Given the description of an element on the screen output the (x, y) to click on. 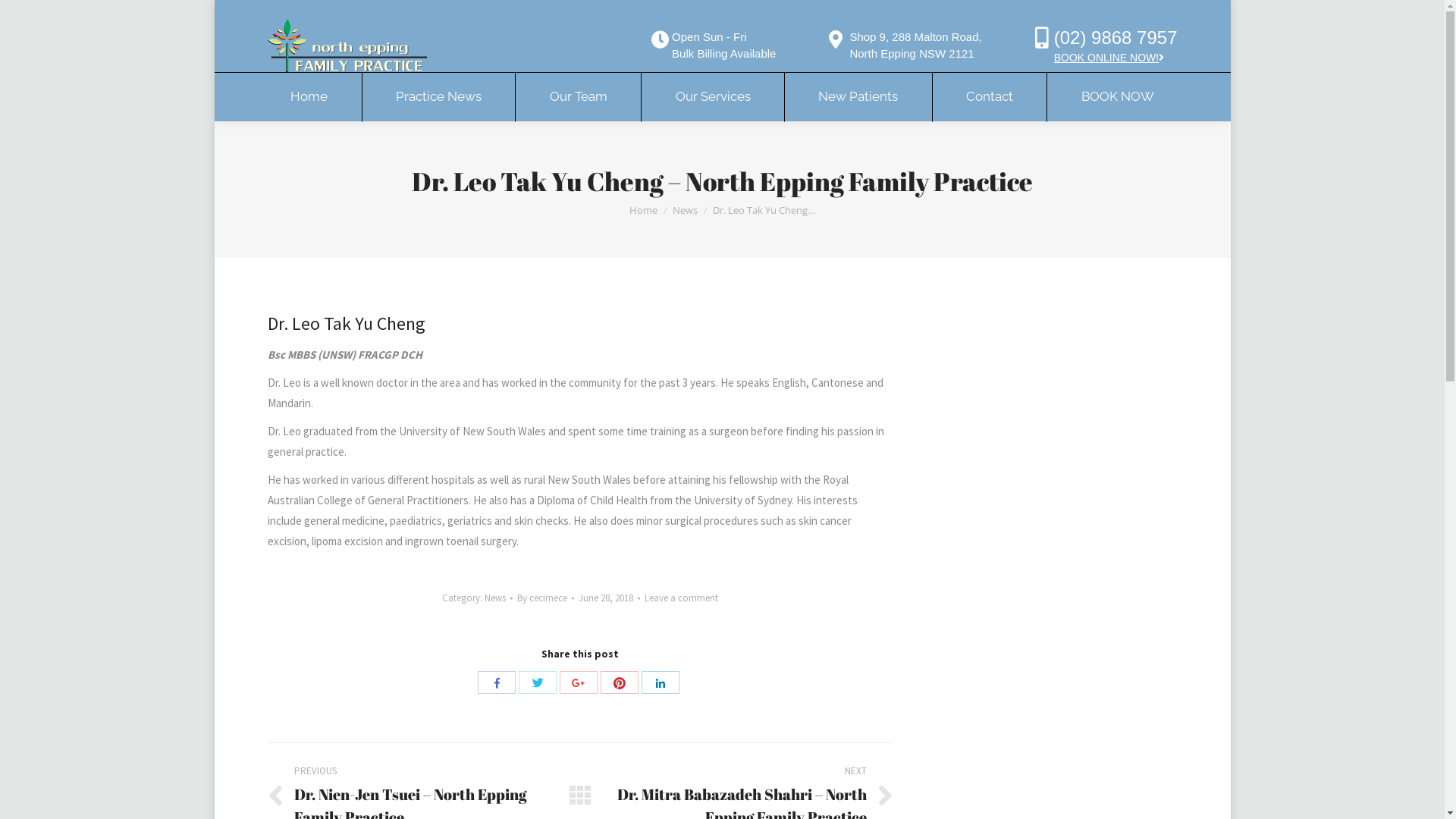
Share with Twitter Element type: text (537, 682)
BOOK ONLINE NOW! Element type: text (1109, 57)
News Element type: text (494, 597)
Our Team Element type: text (578, 96)
Home Element type: text (643, 209)
Contact Element type: text (989, 96)
Practice News Element type: text (438, 96)
By cecimece Element type: text (545, 597)
Share with Pinterest Element type: text (619, 682)
Share with Google+ Element type: text (578, 682)
Post Comment Element type: text (50, 14)
June 28, 2018 Element type: text (609, 597)
News Element type: text (684, 209)
Share with LinkedIn Element type: text (660, 682)
New Patients Element type: text (857, 96)
Home Element type: text (308, 96)
Share with Facebook Element type: text (496, 682)
Leave a comment Element type: text (681, 597)
BOOK NOW Element type: text (1117, 96)
Our Services Element type: text (713, 96)
